Given the description of an element on the screen output the (x, y) to click on. 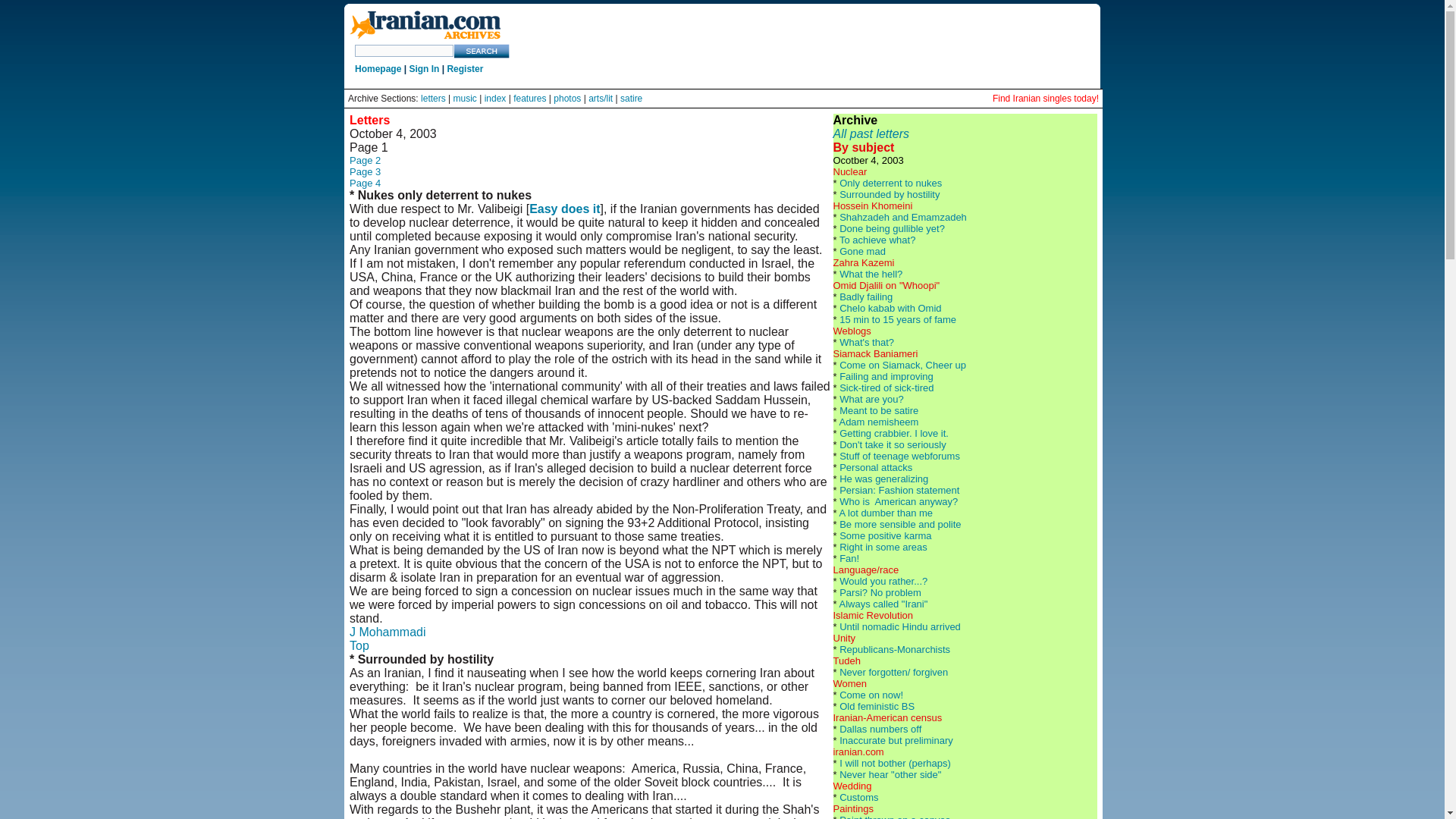
satire (631, 98)
Page 3 (364, 171)
Page 4 (364, 183)
letters (432, 98)
Sign In (424, 68)
index (495, 98)
Find Iranian singles today! (1045, 98)
Homepage (378, 68)
J Mohammadi (387, 631)
Home (424, 40)
Search this Site (481, 51)
music (464, 98)
Home (424, 25)
photos (566, 98)
features (529, 98)
